Given the description of an element on the screen output the (x, y) to click on. 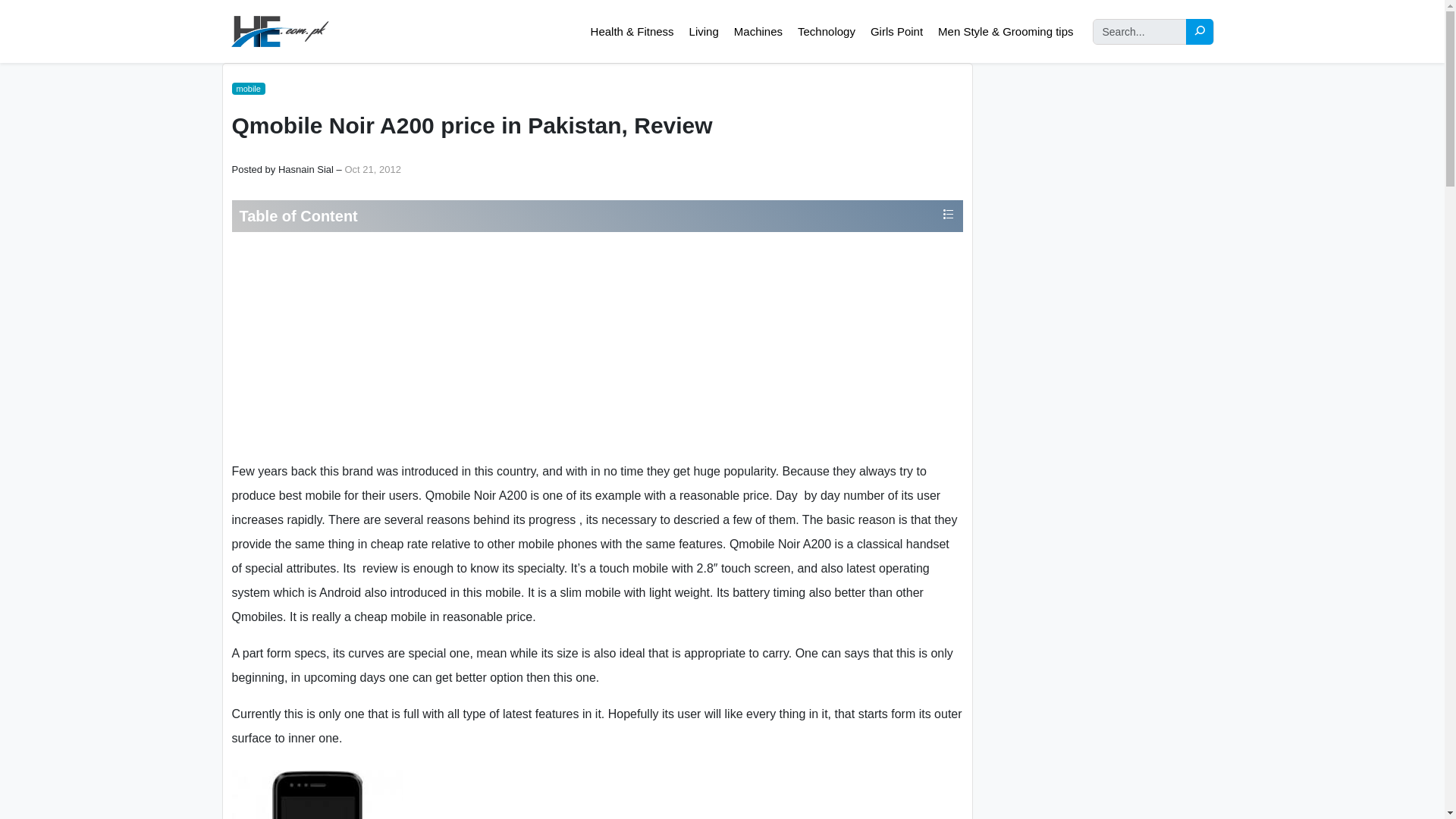
Girls Point (896, 31)
Machines (758, 31)
Advertisement (596, 345)
Qmobile Noir A200 price in Pakistan, Review (317, 794)
Technology (826, 31)
Living (703, 31)
mobile (247, 88)
